Given the description of an element on the screen output the (x, y) to click on. 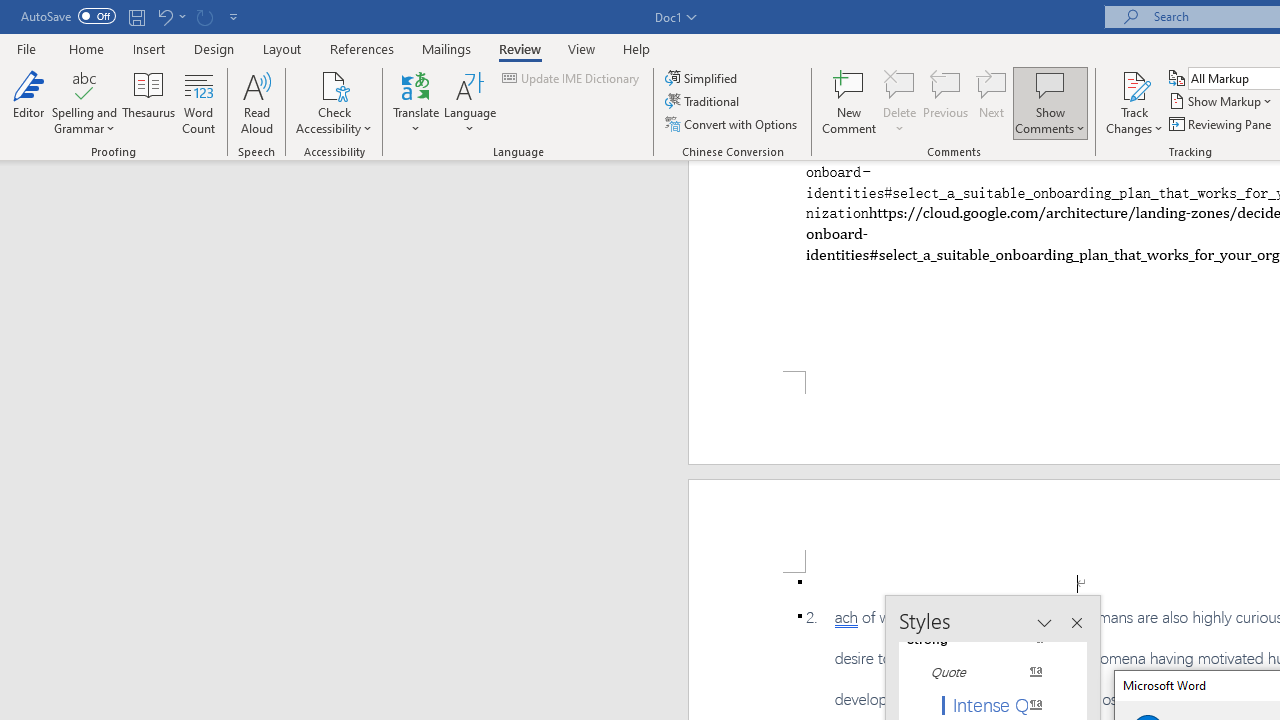
Show Markup (1222, 101)
Show Comments (1050, 102)
Language (470, 102)
